Given the description of an element on the screen output the (x, y) to click on. 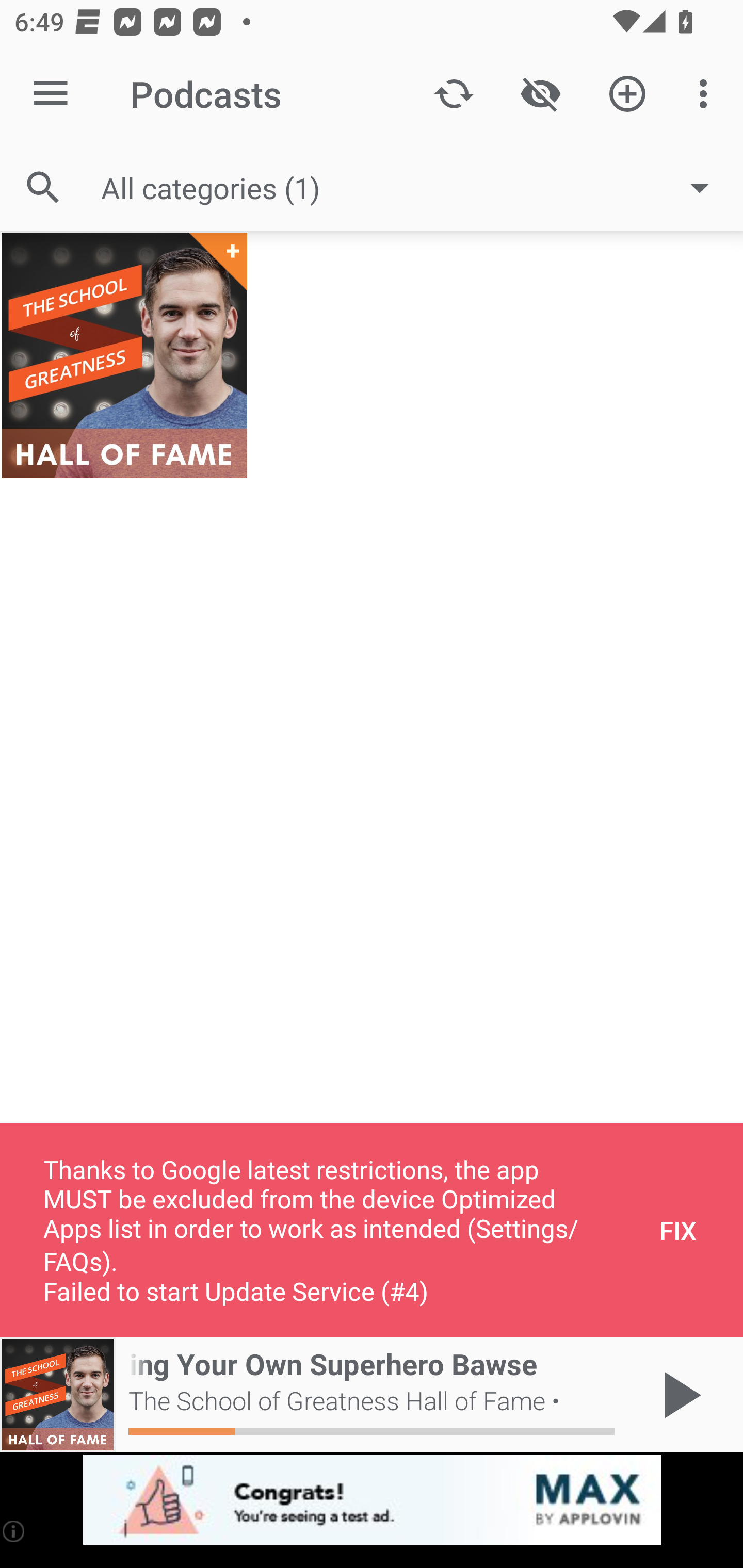
Open navigation sidebar (50, 93)
Update (453, 93)
Show / Hide played content (540, 93)
Add new Podcast (626, 93)
More options (706, 93)
Search (43, 187)
All categories (1) (414, 188)
The School of Greatness Hall of Fame + (124, 355)
FIX (677, 1229)
Play / Pause (677, 1394)
app-monetization (371, 1500)
(i) (14, 1531)
